Given the description of an element on the screen output the (x, y) to click on. 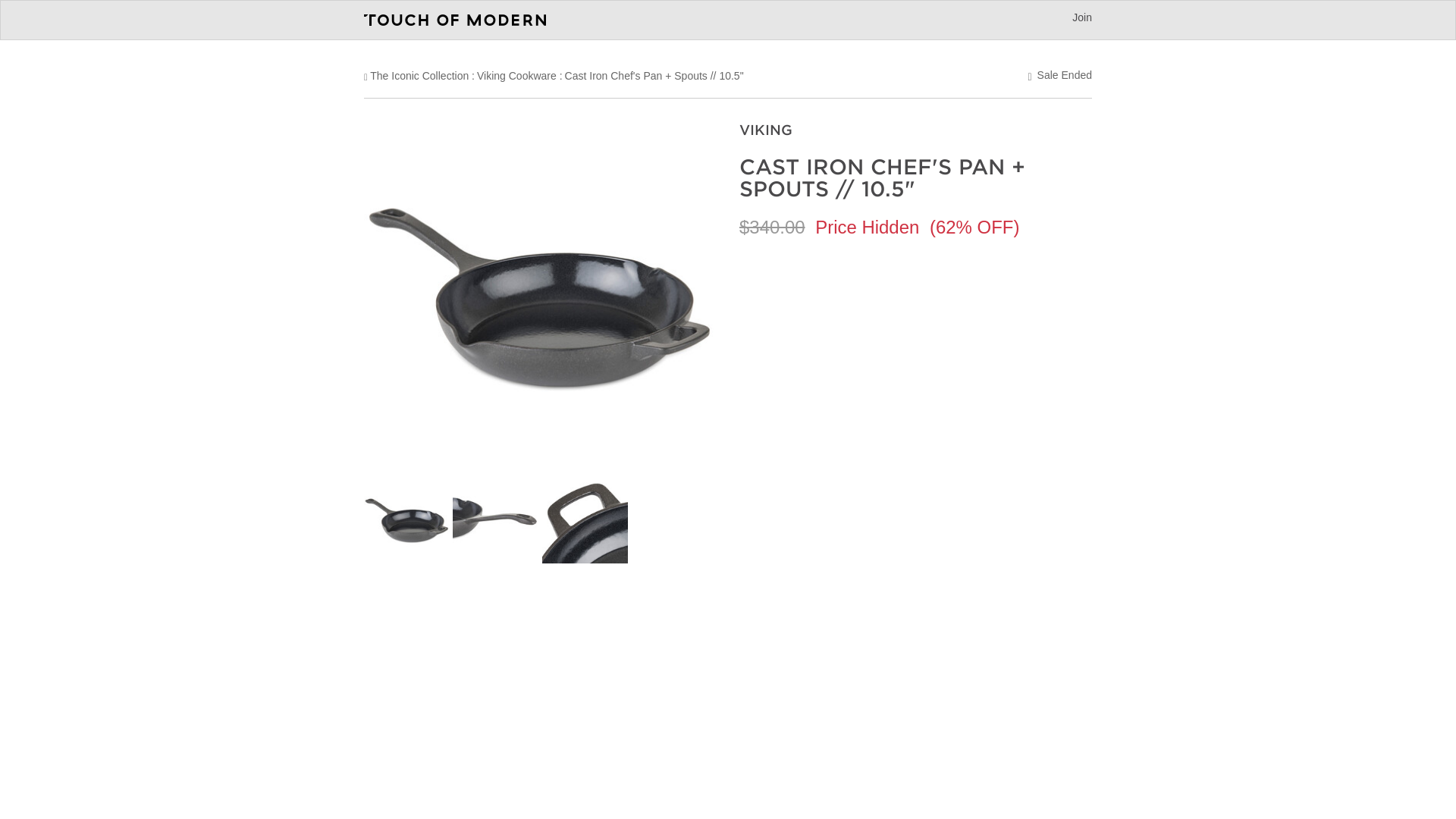
The Iconic Collection (418, 75)
The Iconic Collection (418, 75)
Join (1081, 17)
Viking Cookware (516, 75)
Viking Cookware (516, 75)
